Given the description of an element on the screen output the (x, y) to click on. 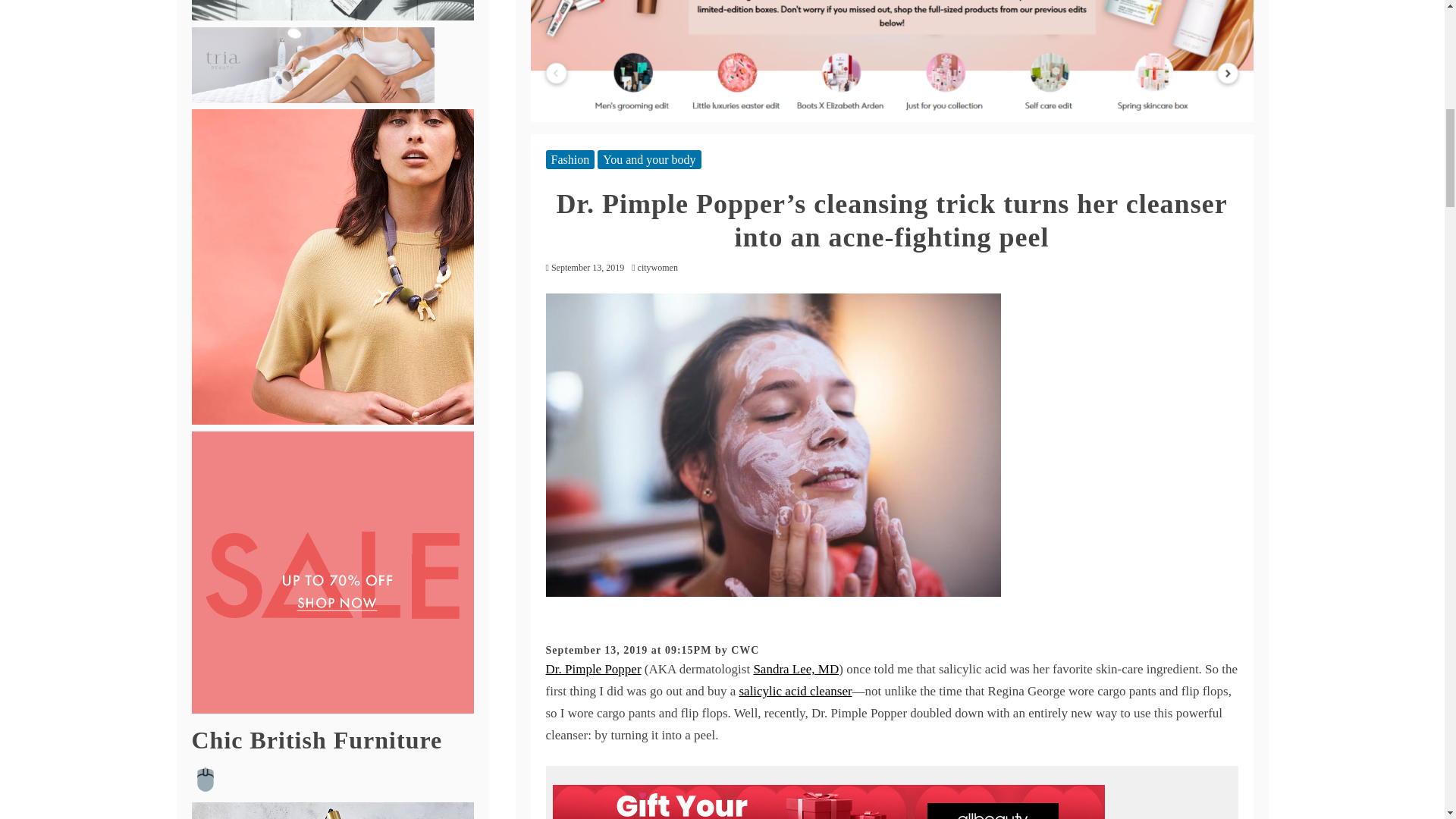
Dr. Pimple Popper (594, 668)
citywomen (661, 267)
salicylic acid cleanser (794, 690)
You and your body (648, 158)
September 13, 2019 (587, 267)
Sandra Lee, MD (795, 668)
Fashion (570, 158)
